Given the description of an element on the screen output the (x, y) to click on. 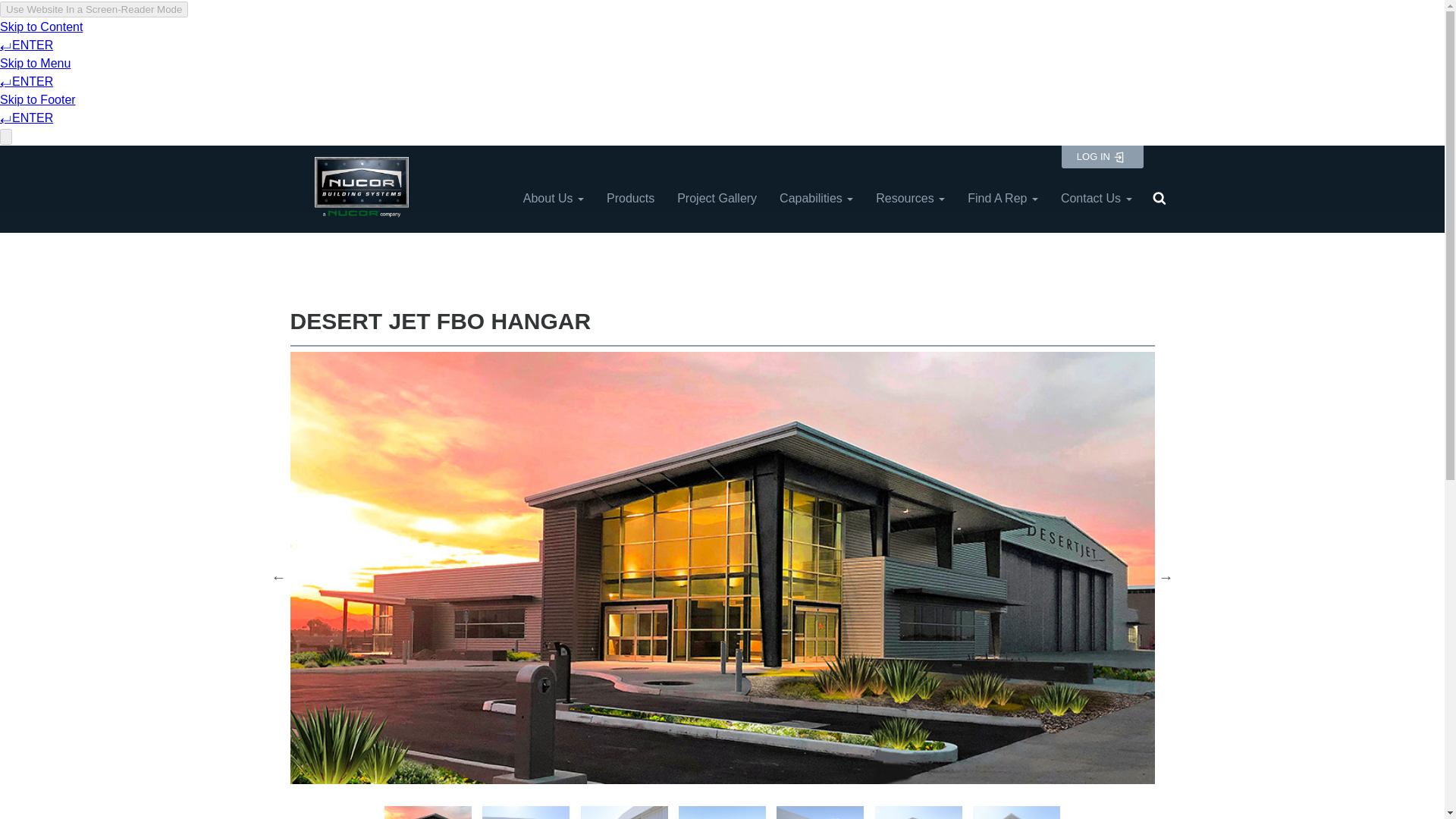
LOG IN (1101, 156)
Resources (910, 198)
About Us (553, 198)
Find A Rep (1002, 198)
Capabilities (816, 198)
Contact Us (1095, 198)
Products (630, 198)
Project Gallery (716, 198)
